Given the description of an element on the screen output the (x, y) to click on. 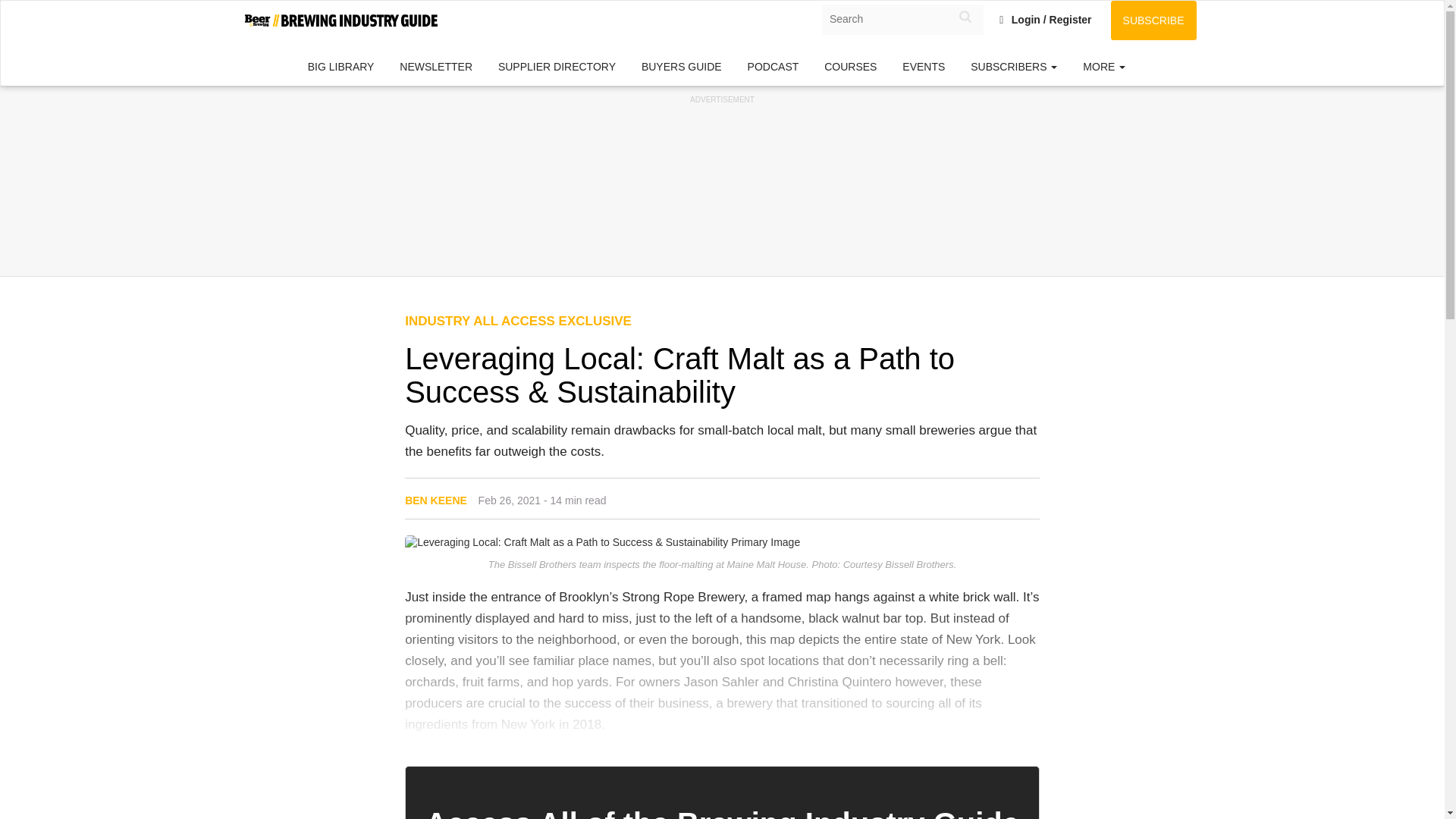
EVENTS (923, 66)
BUYERS GUIDE (681, 66)
BEN KEENE (435, 500)
MORE (1104, 66)
BIG LIBRARY (341, 66)
SUBSCRIBERS (1013, 66)
SUBSCRIBE (1153, 20)
SUPPLIER DIRECTORY (556, 66)
PODCAST (773, 66)
NEWSLETTER (435, 66)
